Given the description of an element on the screen output the (x, y) to click on. 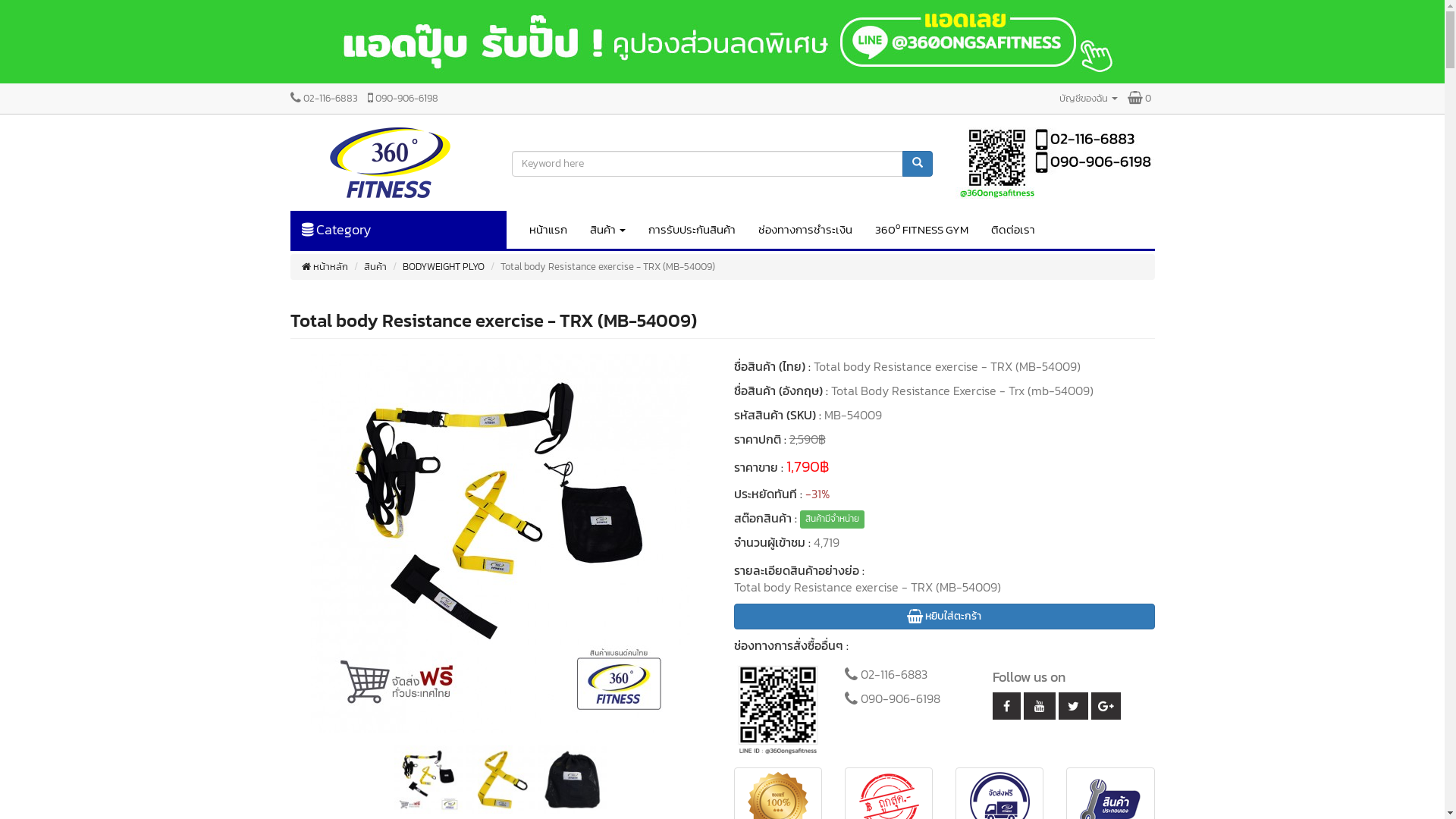
090-906-6198 Element type: text (402, 98)
360o FITNESS GYM Element type: text (921, 229)
02-116-6883 Element type: text (323, 98)
BODYWEIGHT PLYO Element type: text (442, 266)
Total body Resistance exercise - TRX (MB-54009) Element type: text (492, 320)
Category Element type: text (397, 229)
0 Element type: text (1138, 98)
